Given the description of an element on the screen output the (x, y) to click on. 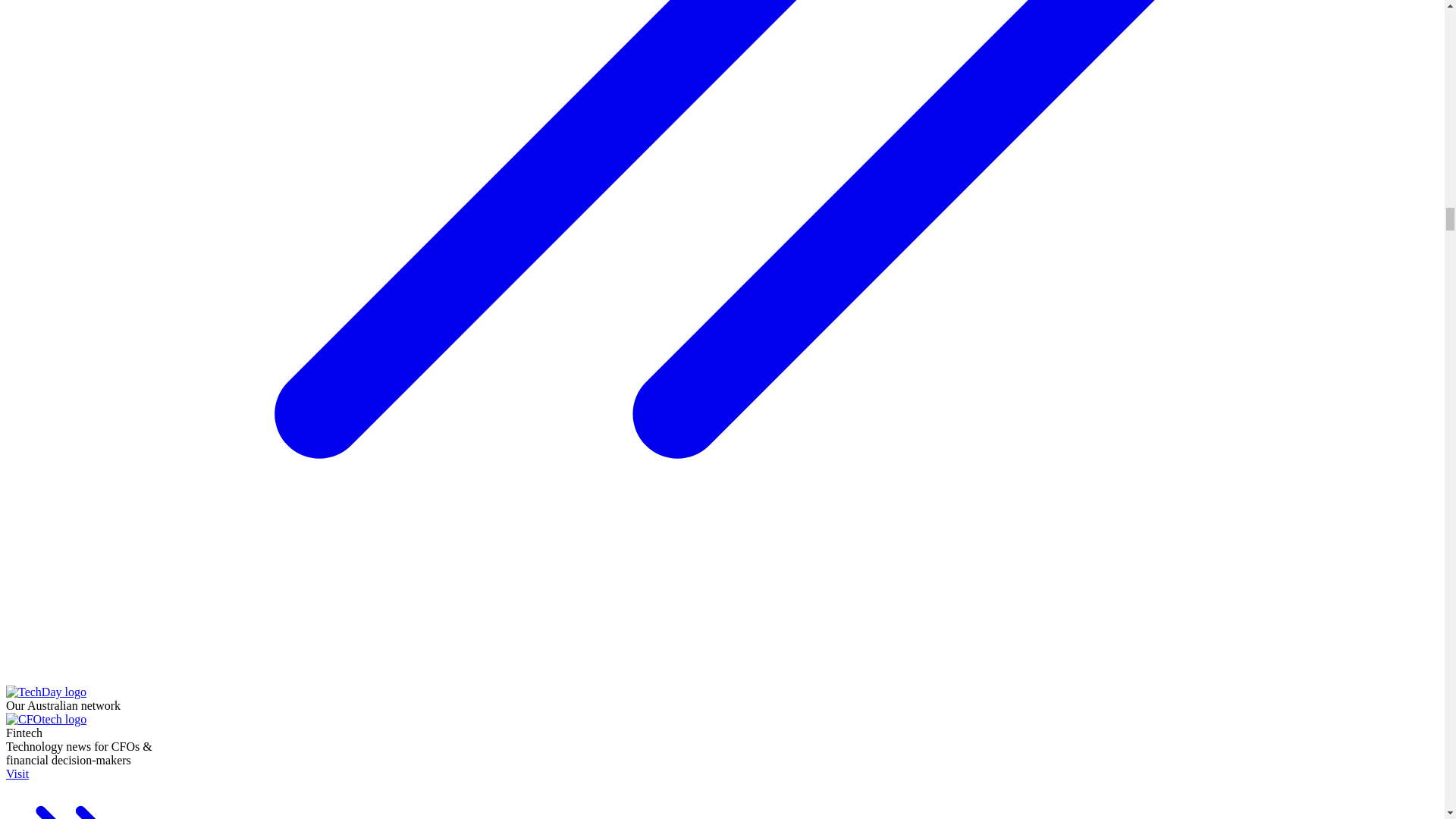
Visit (85, 793)
